Given the description of an element on the screen output the (x, y) to click on. 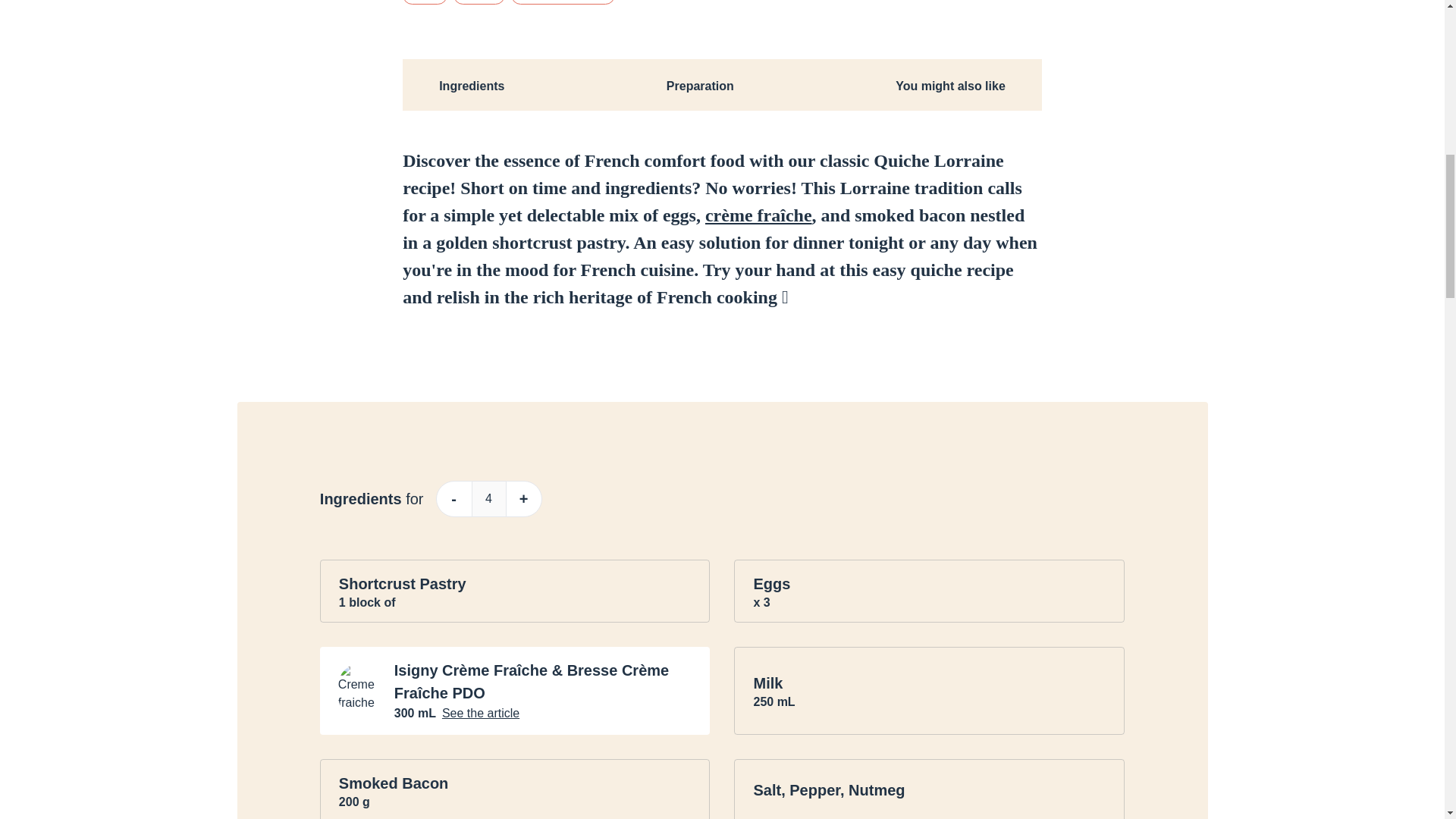
- (453, 498)
You might also like (950, 84)
Preparation (699, 84)
COMFORT FOOD (562, 2)
4 (488, 498)
PICNIC (478, 2)
EASY (424, 2)
Ingredients (471, 84)
See the article (480, 713)
